Given the description of an element on the screen output the (x, y) to click on. 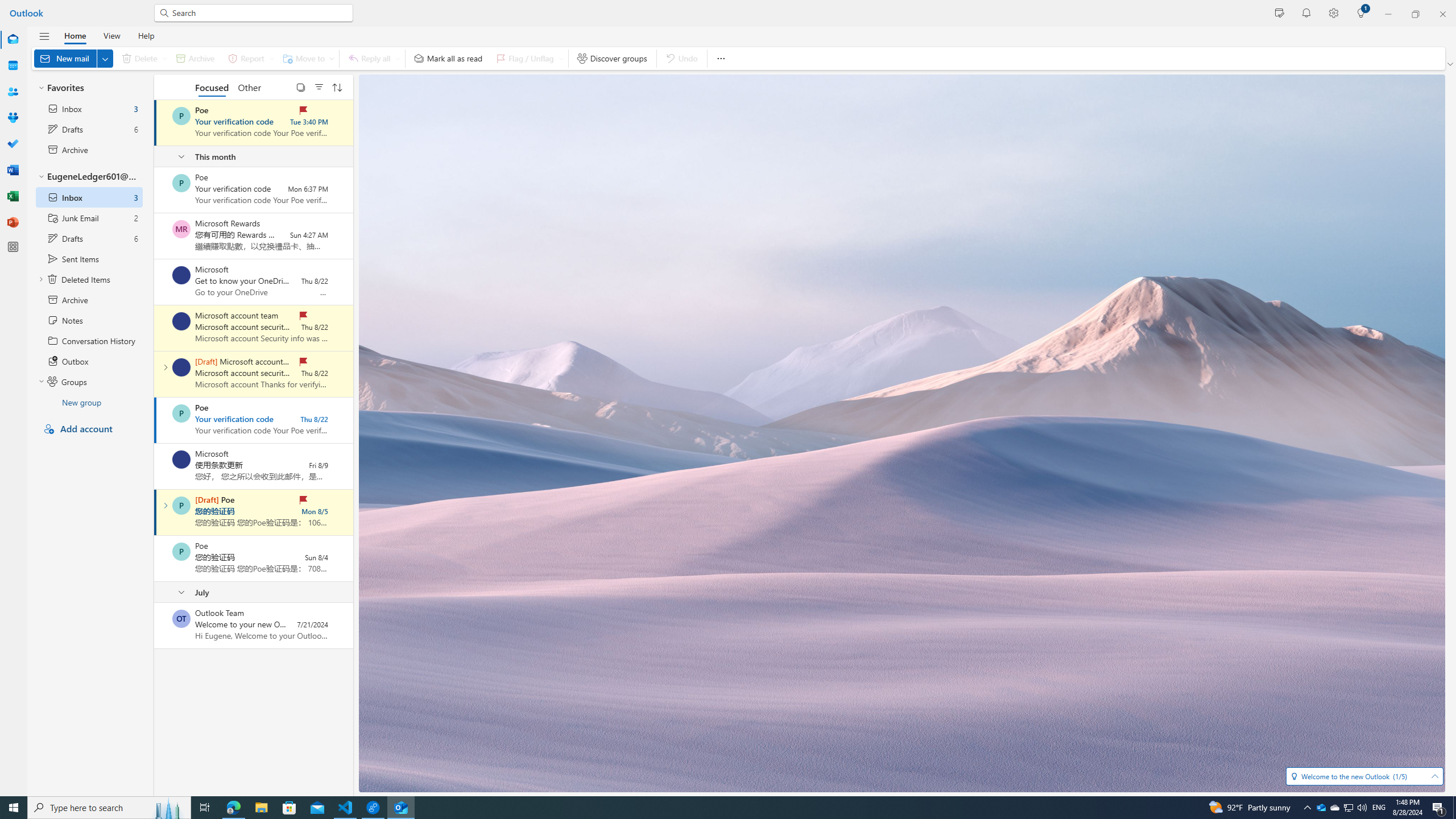
System (6, 6)
PowerPoint (12, 222)
Microsoft Rewards (180, 229)
PowerPoint (12, 222)
More apps (12, 246)
Mark as read (154, 511)
Open (1434, 775)
Expand conversation (164, 505)
Expand to see flag options (561, 58)
Expand to see more respond options (398, 58)
Undo (681, 58)
Flag / Unflag (527, 58)
Expand to see more report options (271, 58)
Word (12, 170)
Expand to see delete options (164, 58)
